Given the description of an element on the screen output the (x, y) to click on. 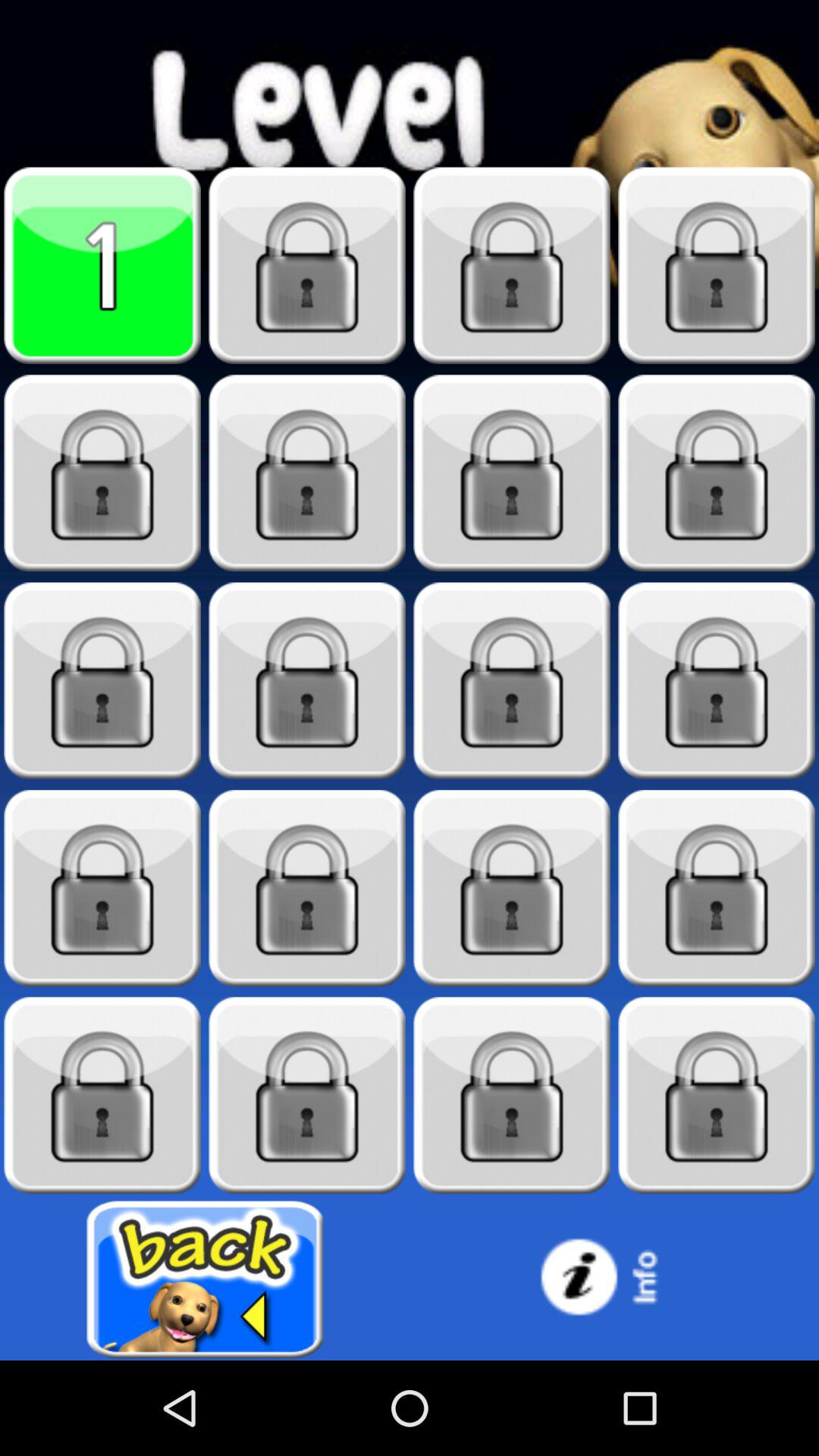
unlock the level (716, 473)
